Given the description of an element on the screen output the (x, y) to click on. 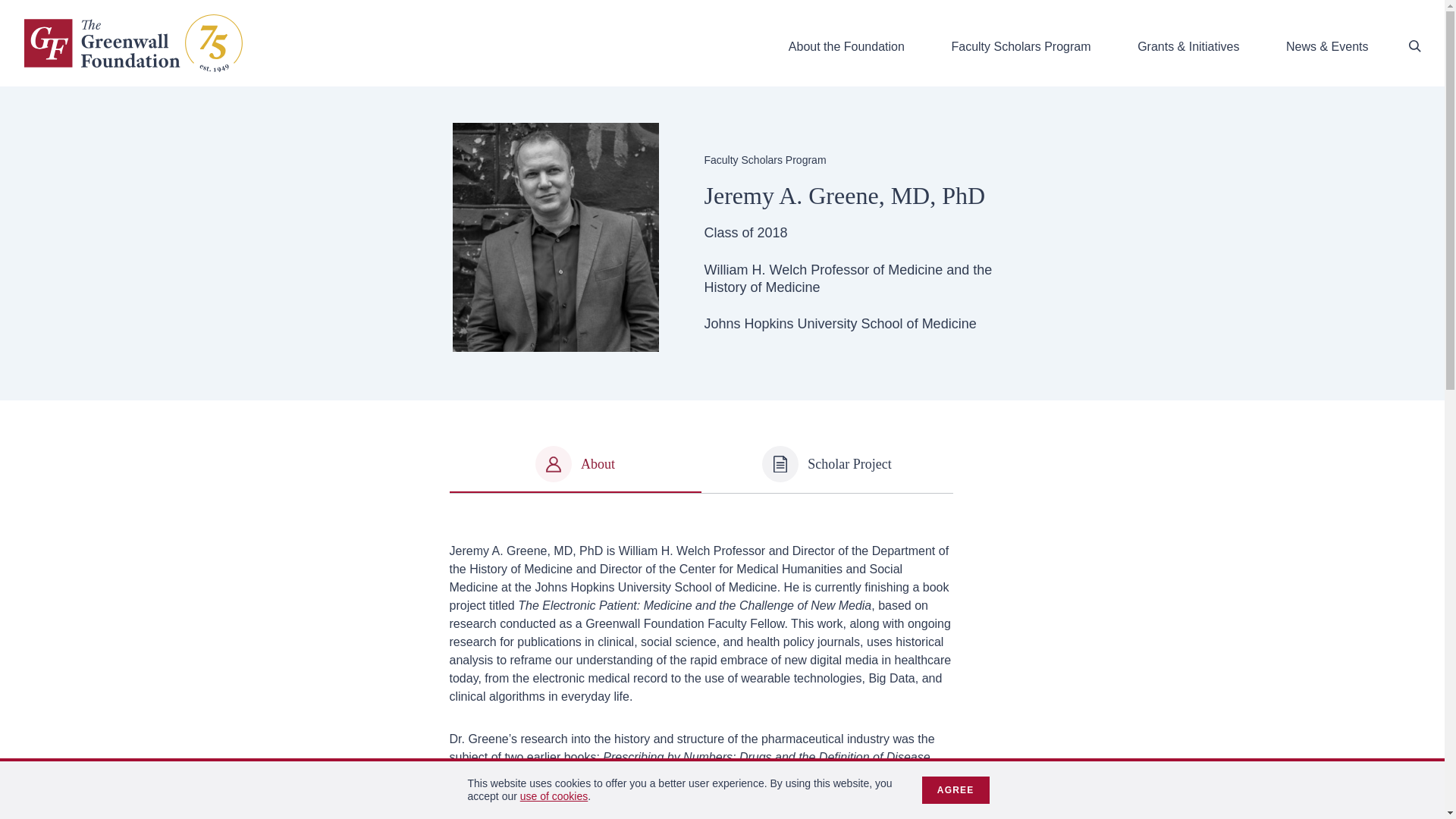
Faculty Scholars Program (1020, 43)
Making a Difference Grants (79, 308)
About Us (35, 145)
Faculty Scholars Program FAQ (1153, 226)
Events (501, 389)
Financial Information (1130, 145)
About (574, 464)
Directors and Staff (767, 145)
Our Faculty Scholars (418, 226)
About the Faculty Scholars Program (100, 226)
About the Foundation (847, 43)
Bernard Lo, MD Award in Bioethics (810, 308)
Faculty Scholars Program Committee (813, 226)
Our Strategy (397, 145)
Grants Database (1117, 308)
